Given the description of an element on the screen output the (x, y) to click on. 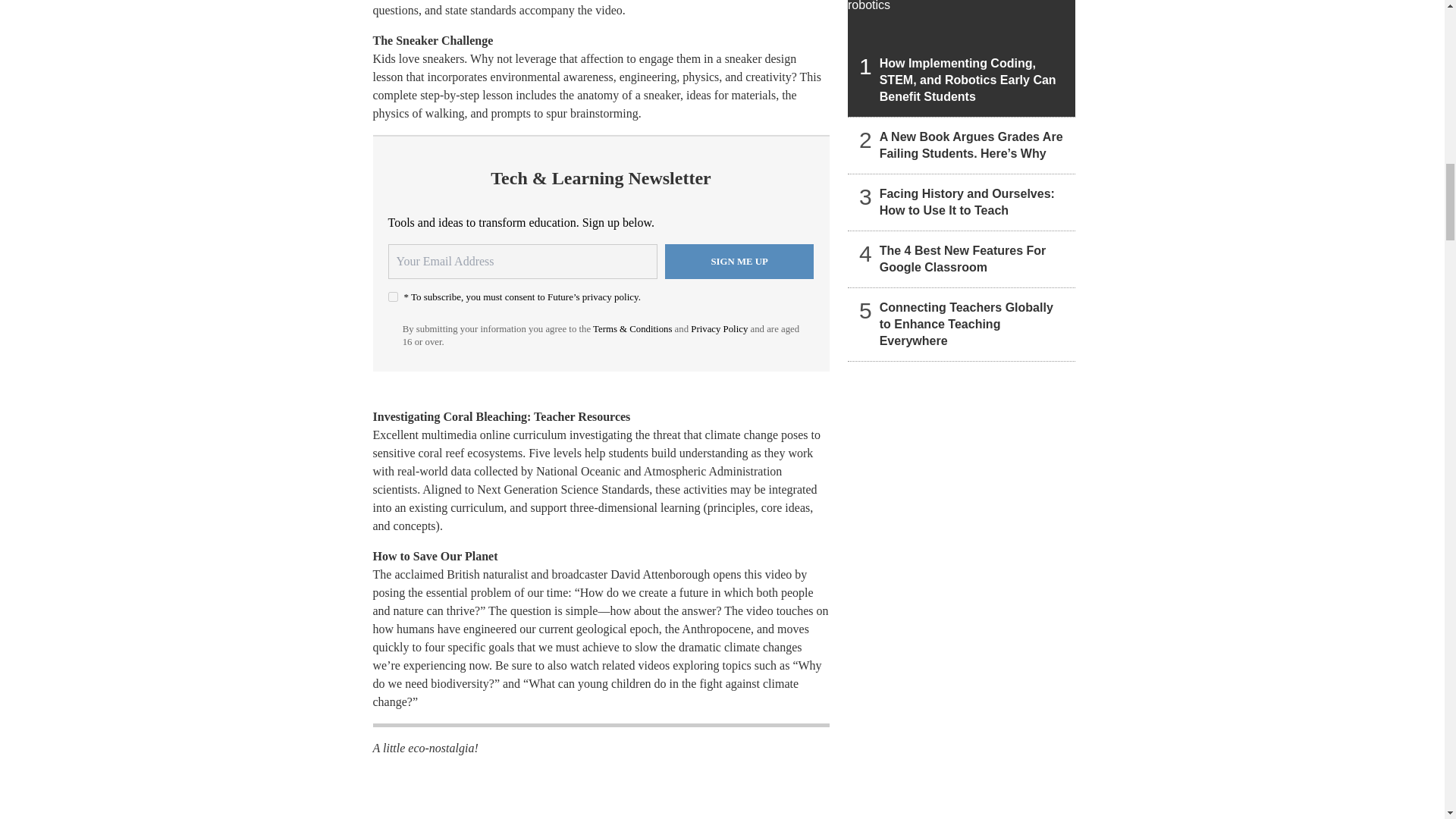
The Sneaker Challenge (432, 40)
Investigating Coral Bleaching: Teacher Resources (501, 416)
Sign me up (739, 261)
on (392, 296)
Sign me up (739, 261)
Privacy Policy (719, 328)
